Given the description of an element on the screen output the (x, y) to click on. 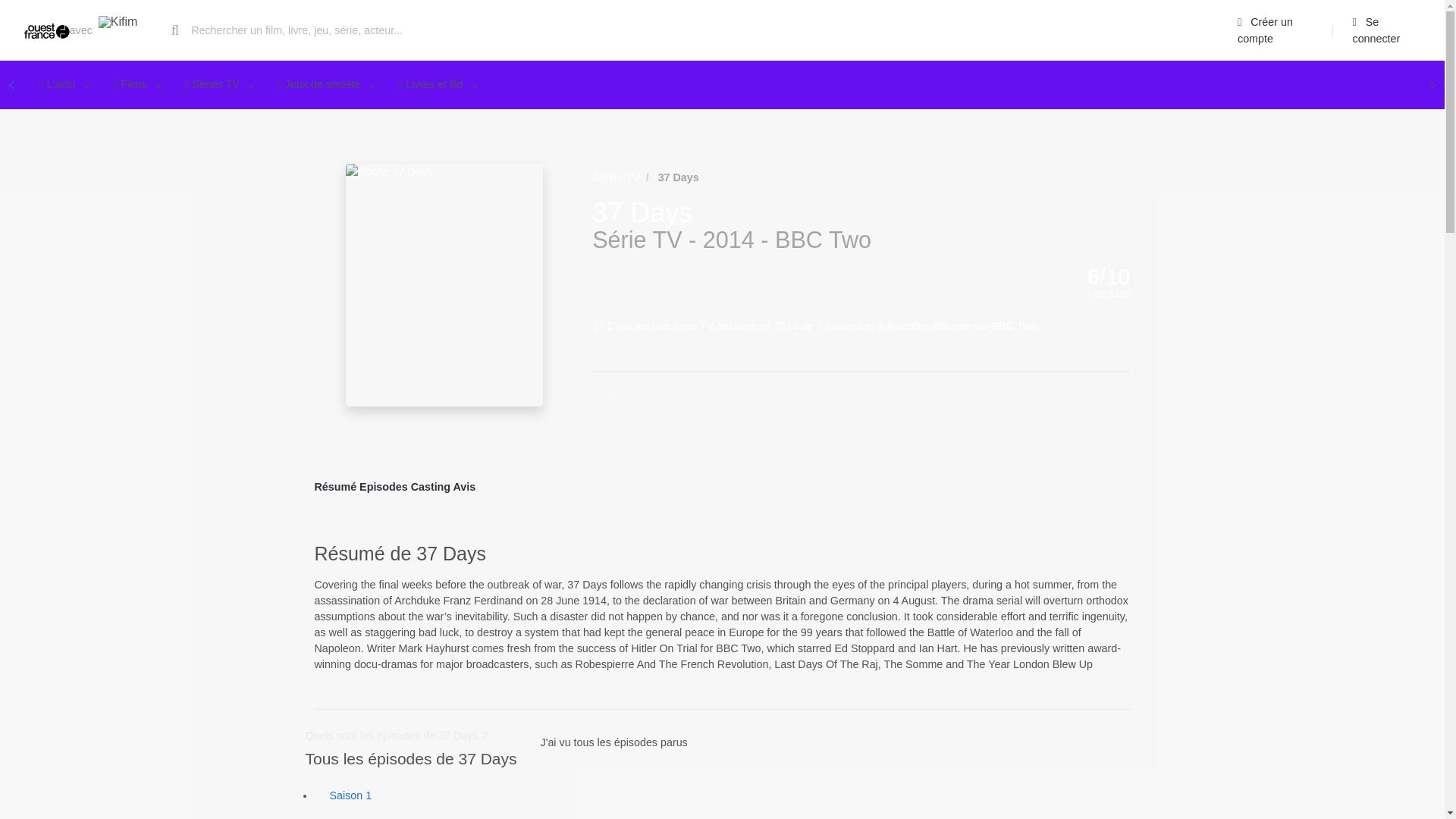
Se connecter (1383, 29)
